Given the description of an element on the screen output the (x, y) to click on. 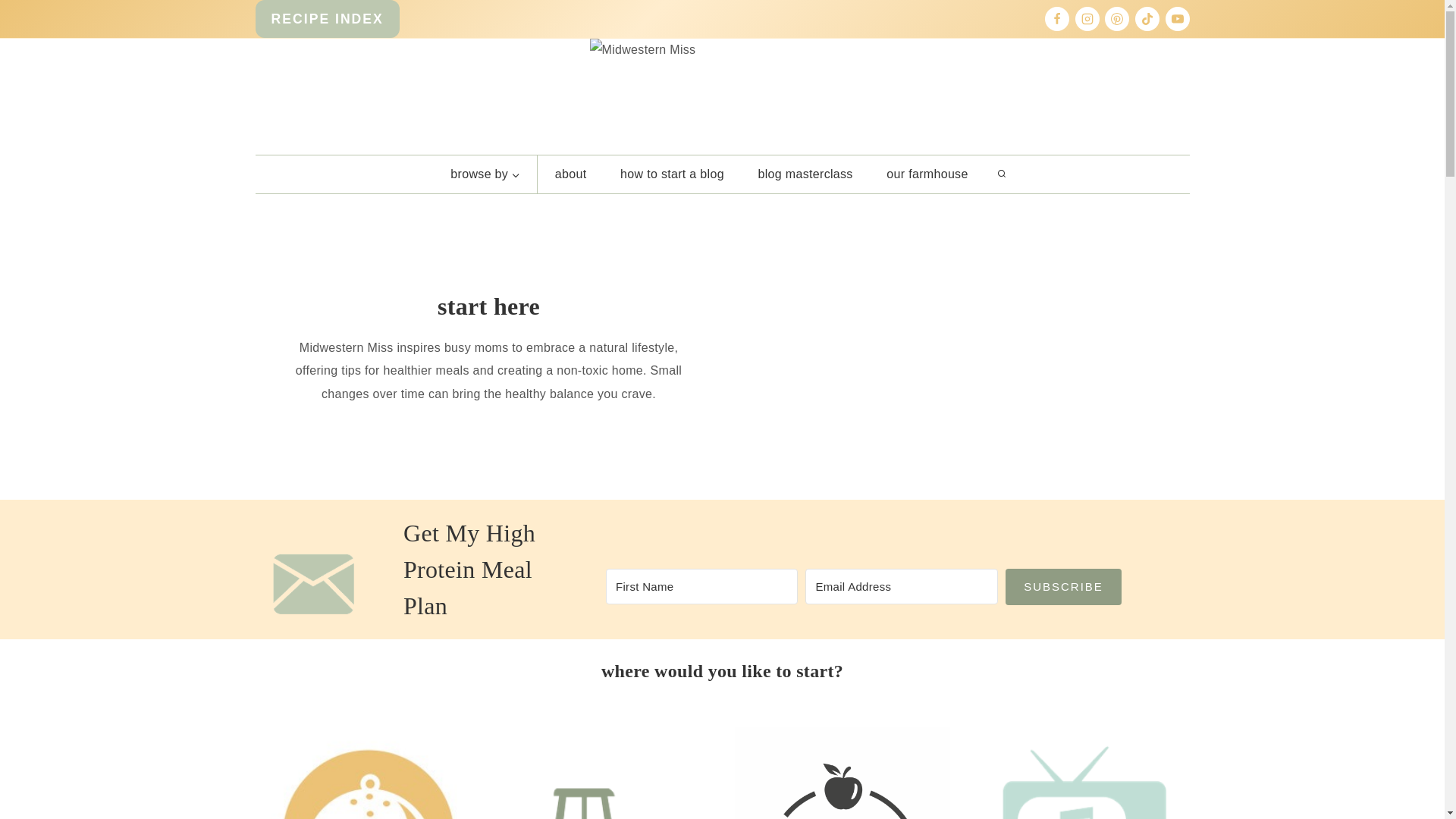
SUBSCRIBE (1063, 586)
blog masterclass (805, 174)
browse by (485, 174)
our farmhouse (927, 174)
Entertain (1081, 773)
Farm Life (602, 773)
about (569, 174)
RECIPE INDEX (326, 18)
how to start a blog (672, 174)
From Scratch Recipes (362, 773)
